Given the description of an element on the screen output the (x, y) to click on. 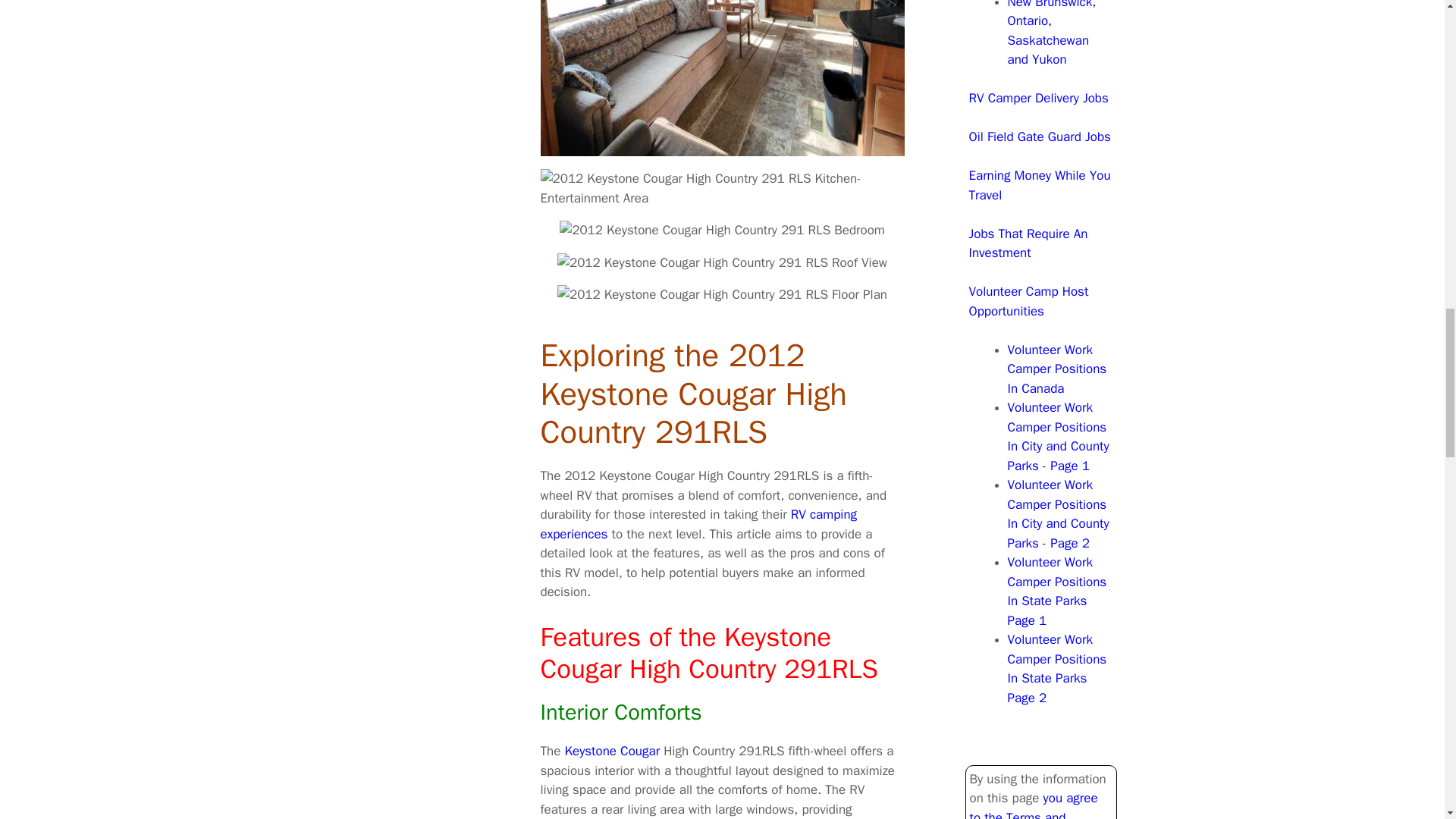
2012 Keystone Cougar High Country 291 RLS Floor Plan (721, 294)
2012 Keystone Cougar High Country 291 RLS Roof View (721, 262)
2012 Keystone Cougar High Country 291 RLS Living Area (722, 78)
Keystone Cougar (611, 750)
2012 Keystone Cougar High Country 291 RLS Bedroom (722, 230)
RV camping experiences (698, 524)
